Given the description of an element on the screen output the (x, y) to click on. 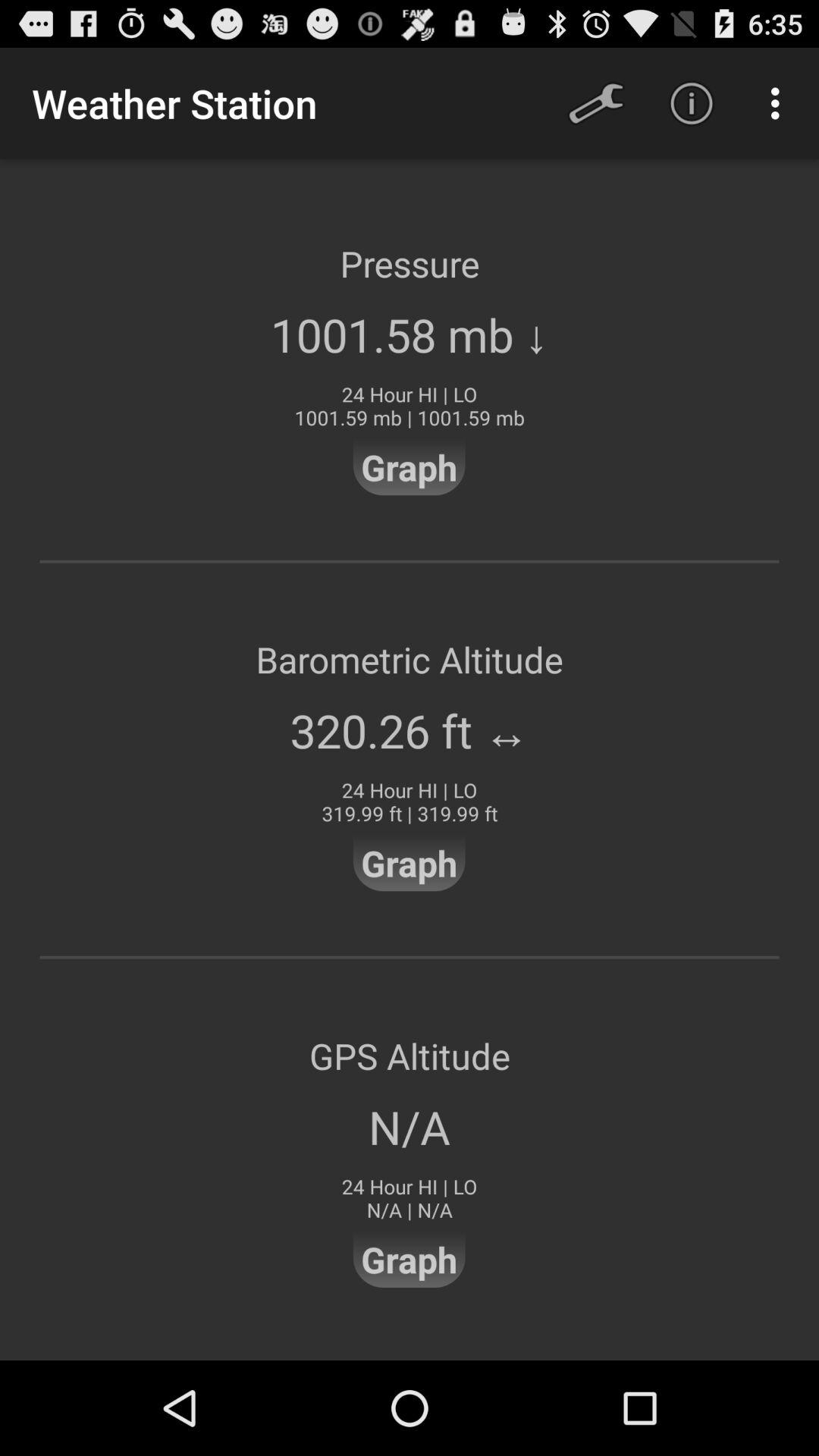
choose the icon above the pressure item (779, 103)
